Given the description of an element on the screen output the (x, y) to click on. 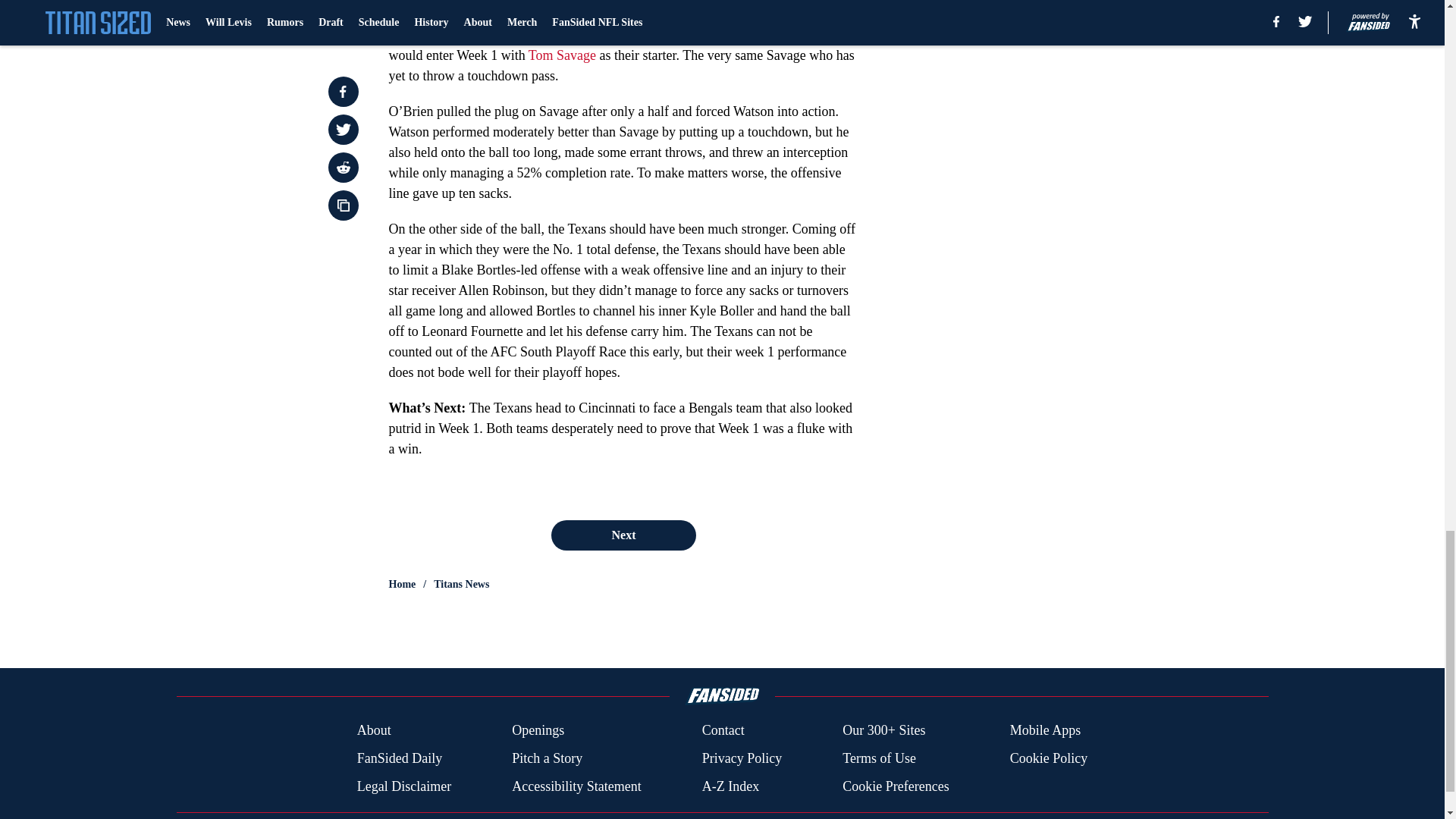
Cookie Policy (1048, 758)
Tom Savage (561, 55)
Legal Disclaimer (403, 786)
Titans News (461, 584)
Next (622, 535)
Contact (722, 730)
Home (401, 584)
Privacy Policy (742, 758)
Terms of Use (879, 758)
About (373, 730)
